Given the description of an element on the screen output the (x, y) to click on. 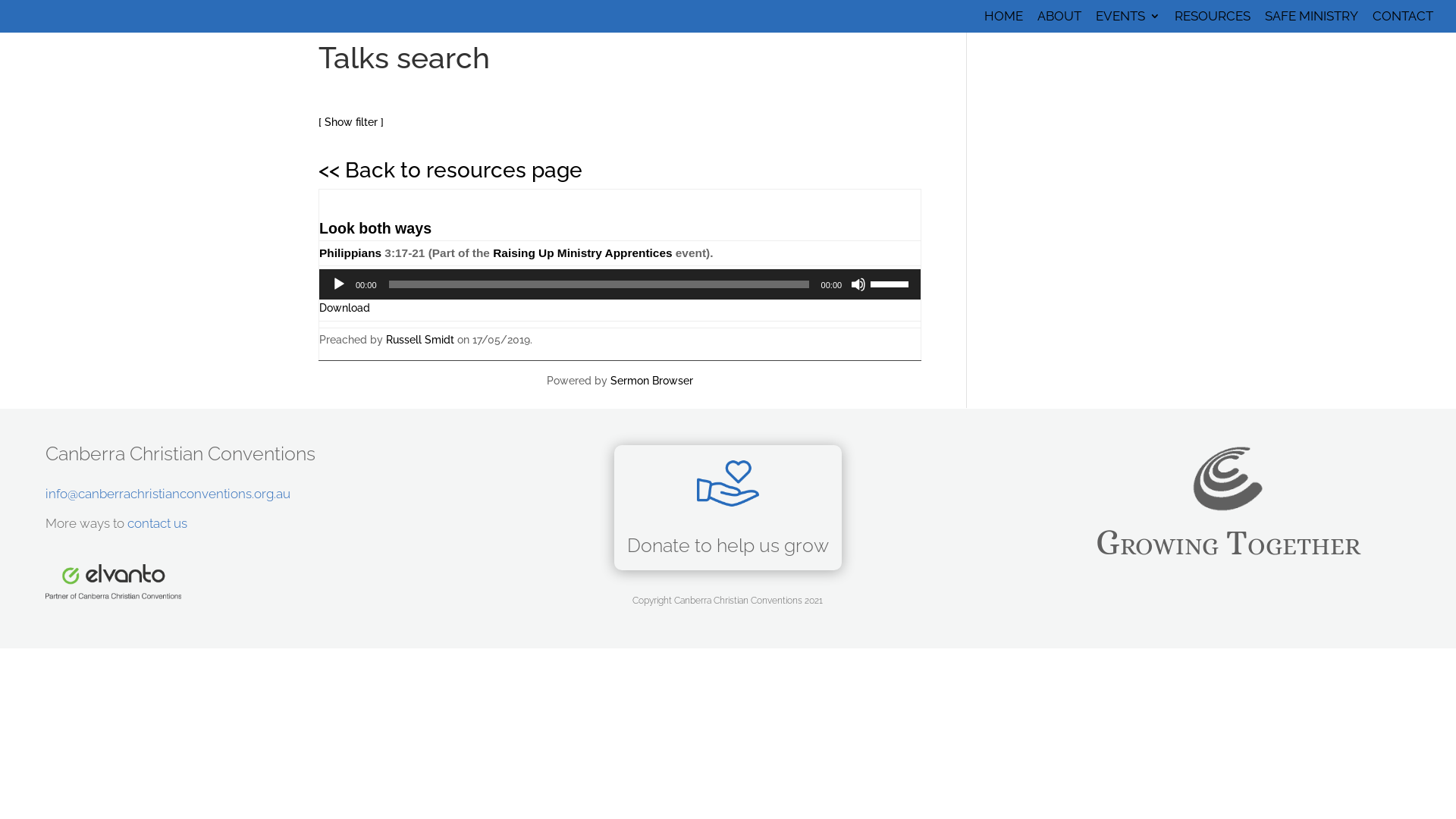
Look both ways Element type: text (375, 227)
Mute Element type: hover (858, 283)
HOME Element type: text (1003, 20)
Use Up/Down Arrow keys to increase or decrease volume. Element type: text (891, 282)
SAFE MINISTRY Element type: text (1311, 20)
<< Back to resources page Element type: text (450, 169)
RESOURCES Element type: text (1212, 20)
contact us Element type: text (157, 522)
CCC-grey Element type: hover (1227, 478)
Raising Up Ministry Apprentices Element type: text (581, 252)
elvnto Element type: hover (113, 581)
Sermon Browser Element type: text (651, 380)
Play Element type: hover (338, 283)
Download Element type: text (344, 307)
ABOUT Element type: text (1059, 20)
info@canberrachristianconventions.org.au Element type: text (167, 493)
EVENTS Element type: text (1127, 20)
CONTACT Element type: text (1402, 20)
Russell Smidt Element type: text (419, 339)
[ Show filter ] Element type: text (350, 122)
Philippians Element type: text (350, 252)
